Given the description of an element on the screen output the (x, y) to click on. 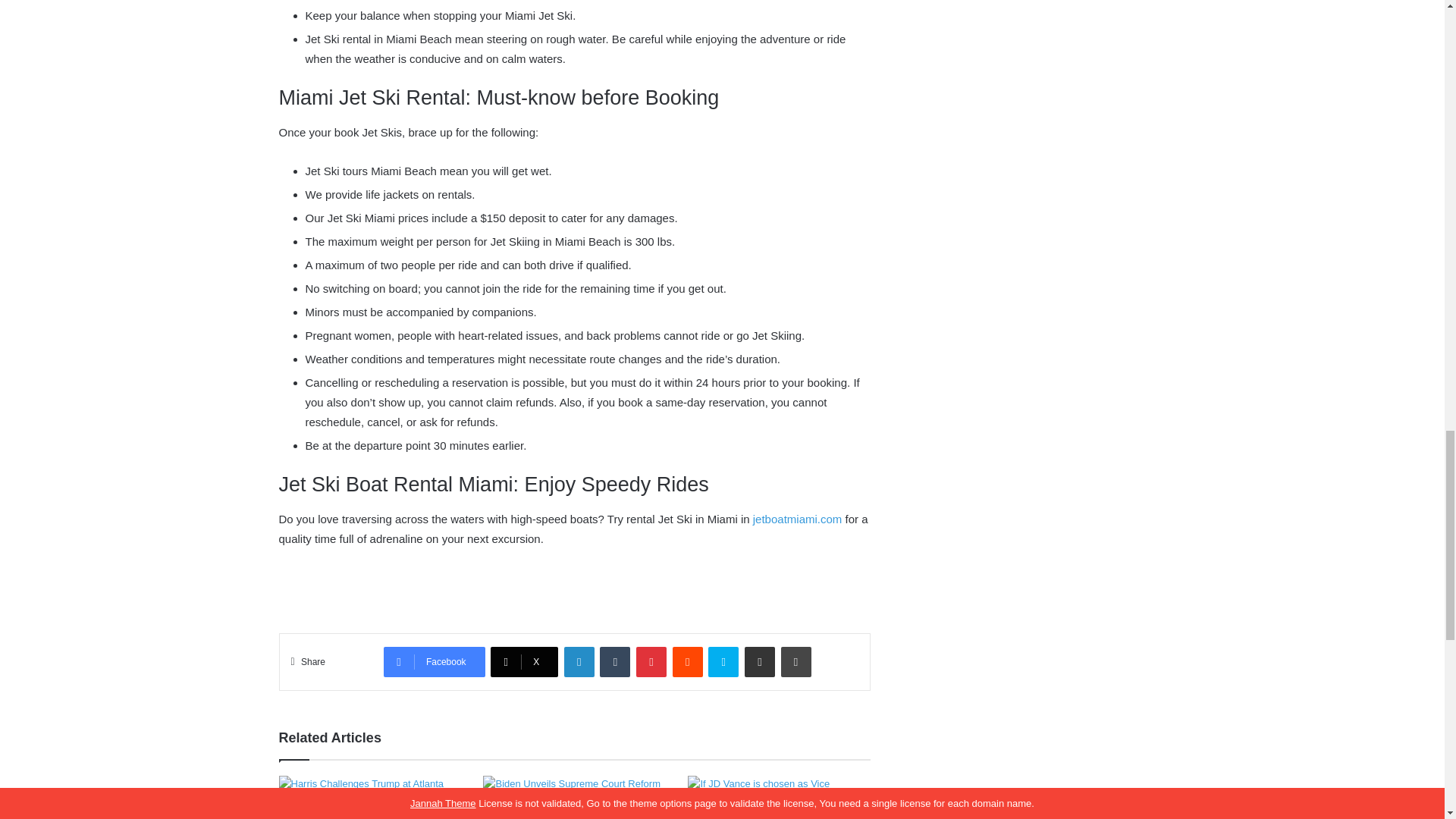
Skype (722, 662)
Reddit (687, 662)
Facebook (434, 662)
Tumblr (614, 662)
X (523, 662)
LinkedIn (579, 662)
Print (795, 662)
X (523, 662)
Facebook (434, 662)
Skype (722, 662)
